Given the description of an element on the screen output the (x, y) to click on. 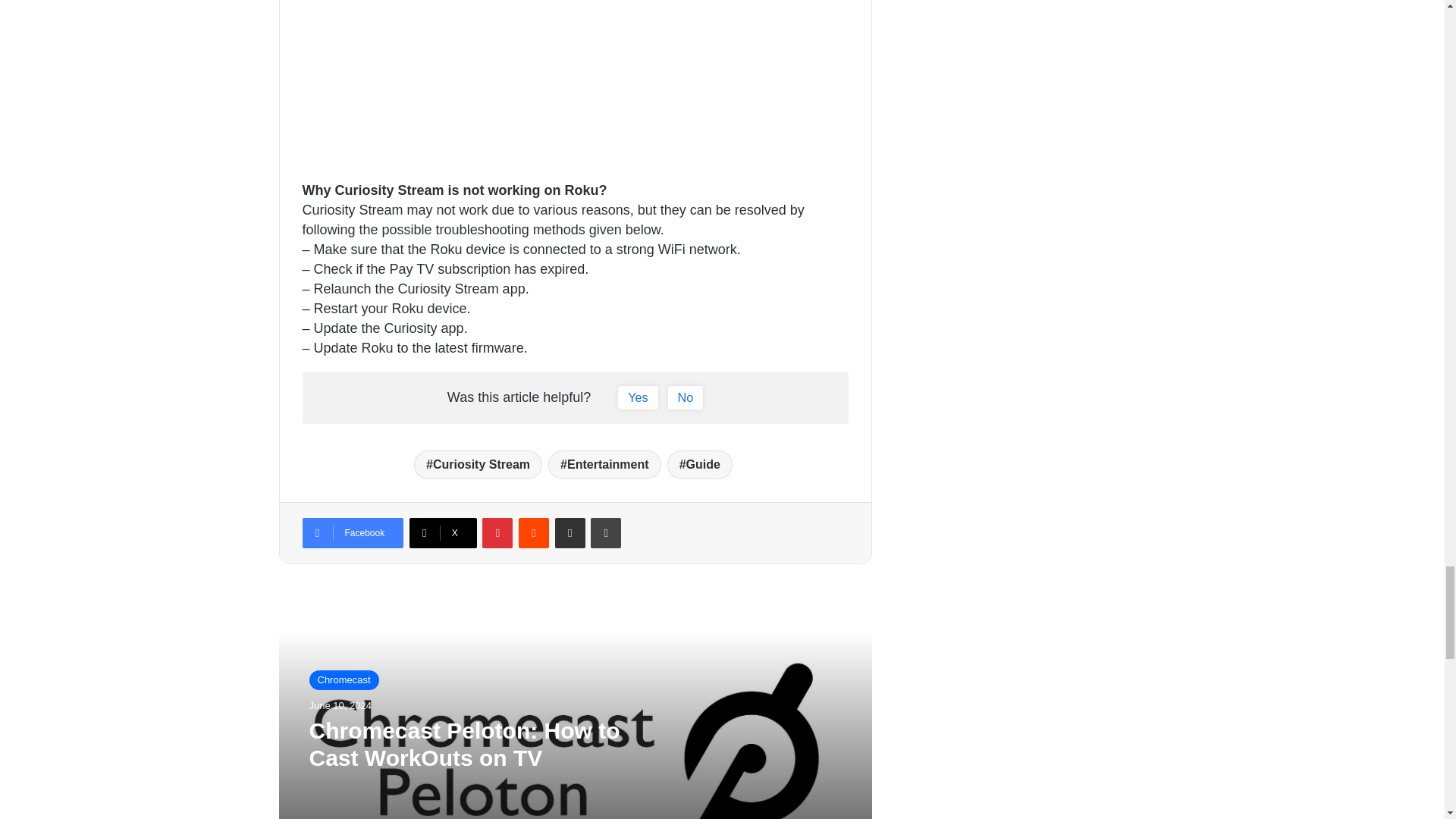
Curiosity Stream (477, 464)
Guide (699, 464)
Entertainment (604, 464)
